Given the description of an element on the screen output the (x, y) to click on. 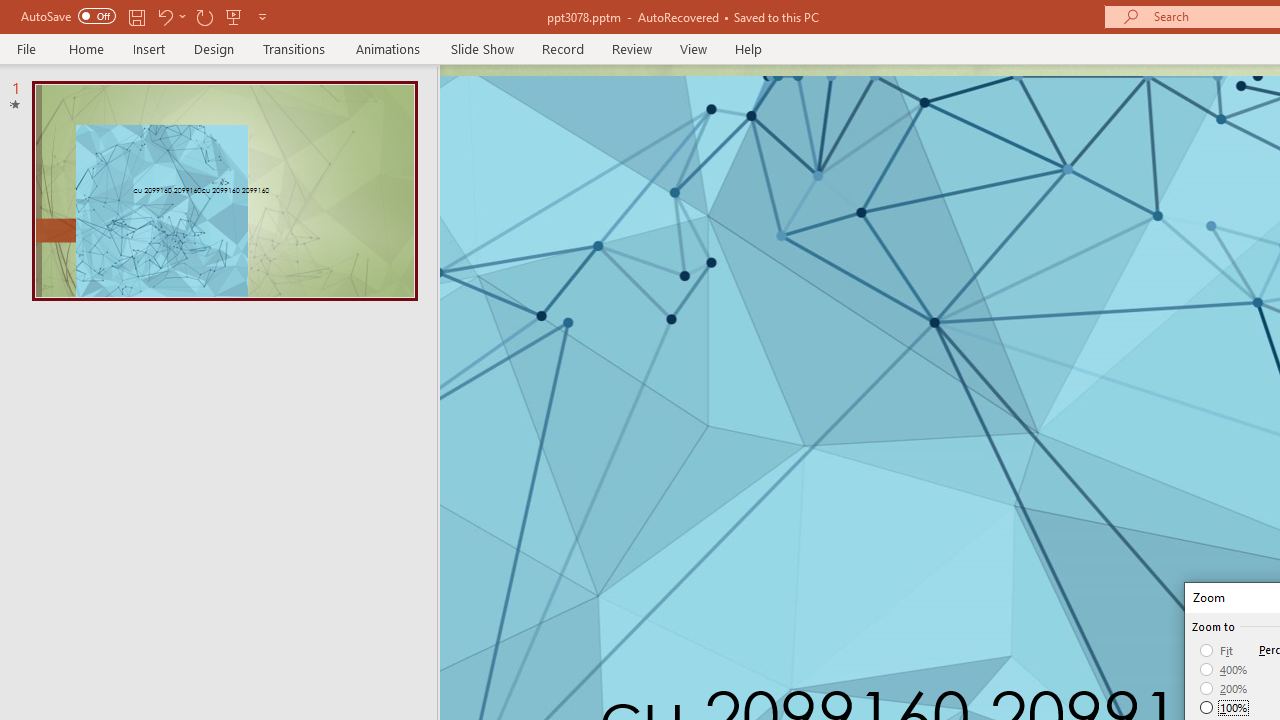
400% (1224, 669)
100% (1224, 707)
200% (1224, 688)
